Given the description of an element on the screen output the (x, y) to click on. 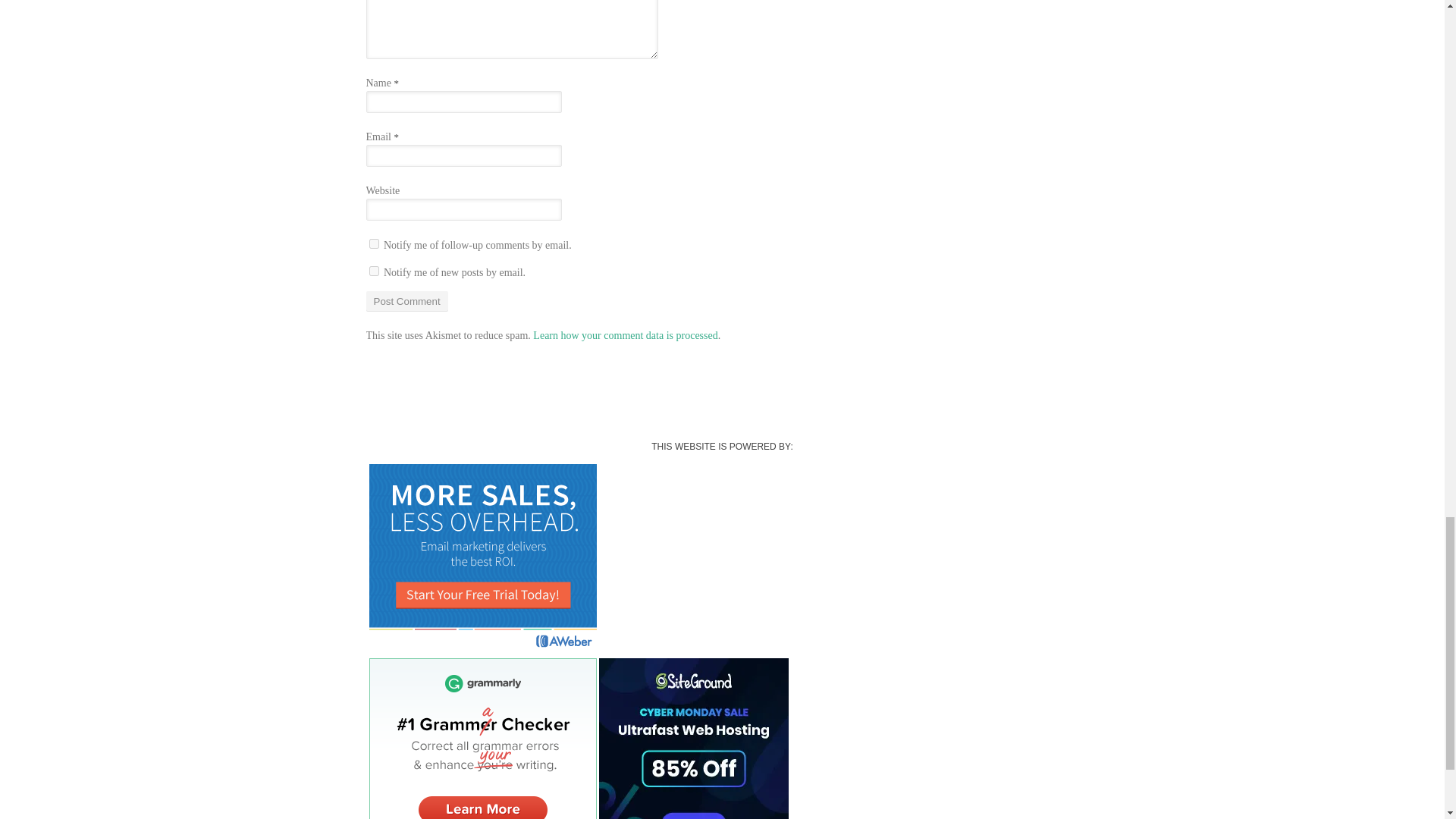
Post Comment (405, 301)
subscribe (373, 243)
subscribe (373, 271)
